Given the description of an element on the screen output the (x, y) to click on. 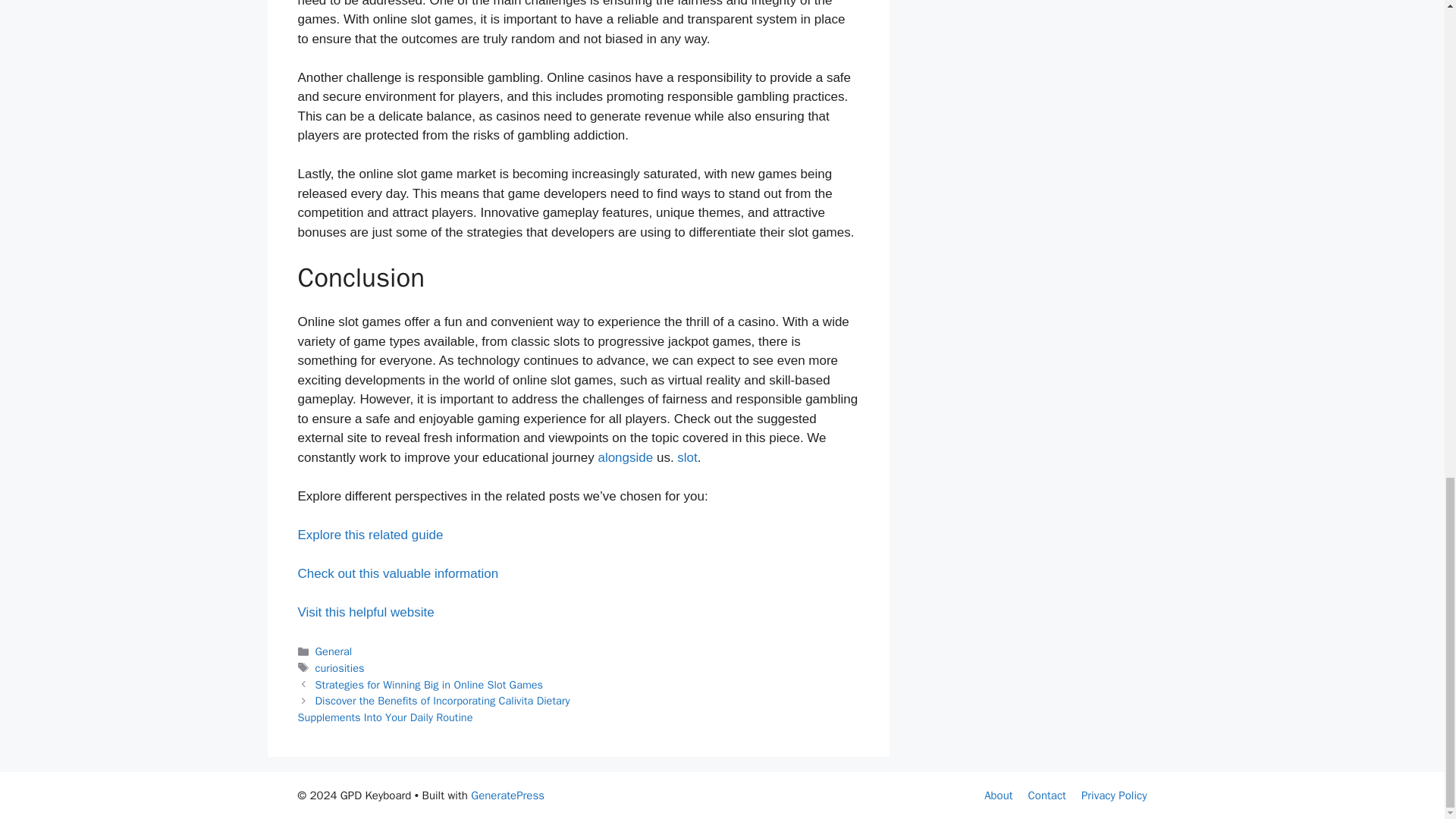
Check out this valuable information (397, 573)
Contact (1046, 795)
slot (687, 457)
curiosities (340, 667)
Privacy Policy (1114, 795)
alongside (624, 457)
Explore this related guide (369, 534)
Visit this helpful website (365, 612)
GeneratePress (507, 795)
General (333, 651)
